Given the description of an element on the screen output the (x, y) to click on. 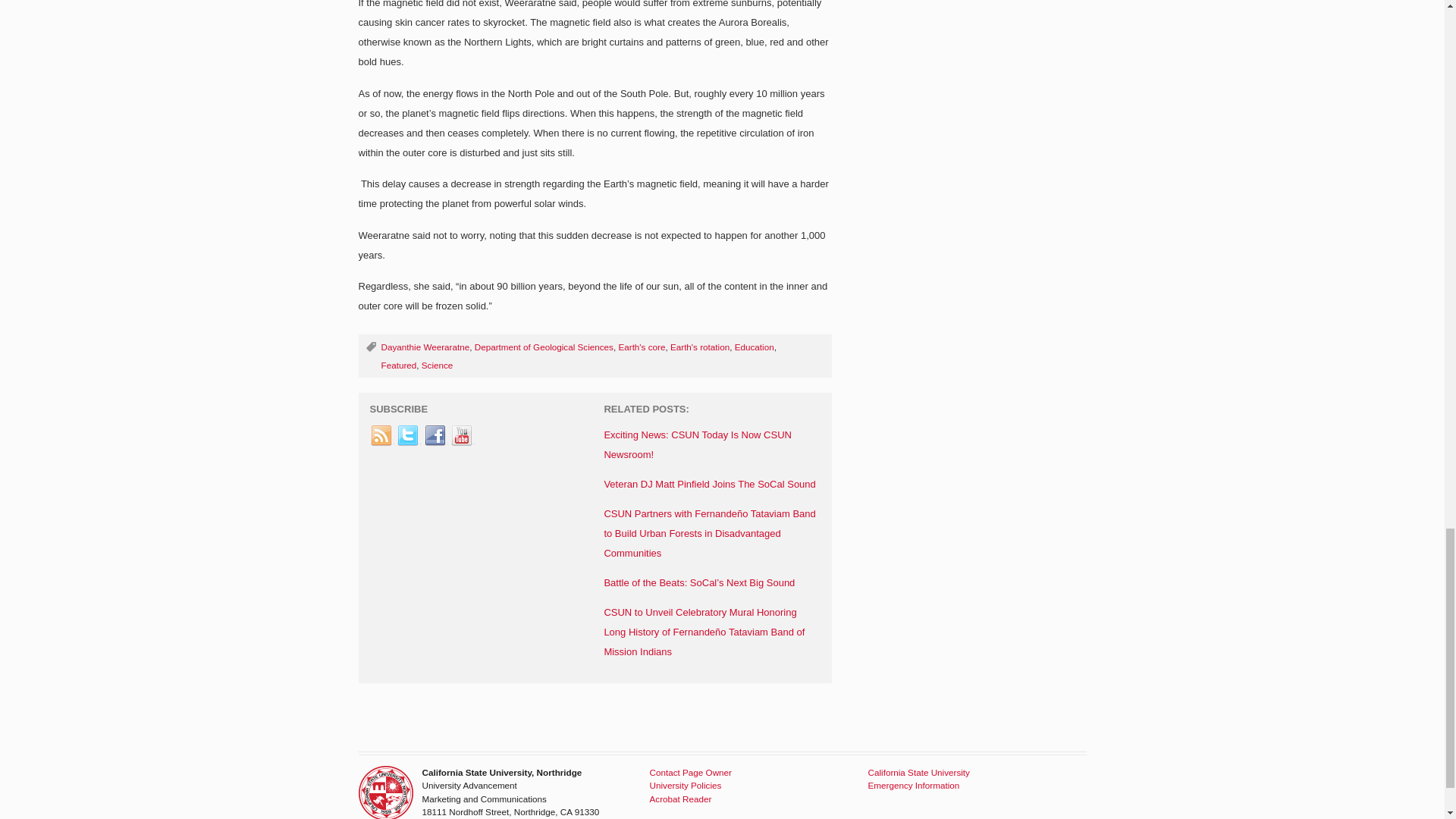
Dayanthie Weeraratne (424, 347)
Earth's rotation (699, 347)
YouTube (461, 435)
Veteran DJ Matt Pinfield Joins The SoCal Sound (709, 483)
Education (754, 347)
RSS (381, 435)
Featured (398, 365)
Department of Geological Sciences (543, 347)
Exciting News: CSUN Today Is Now CSUN Newsroom! (698, 444)
Earth's core (641, 347)
